Given the description of an element on the screen output the (x, y) to click on. 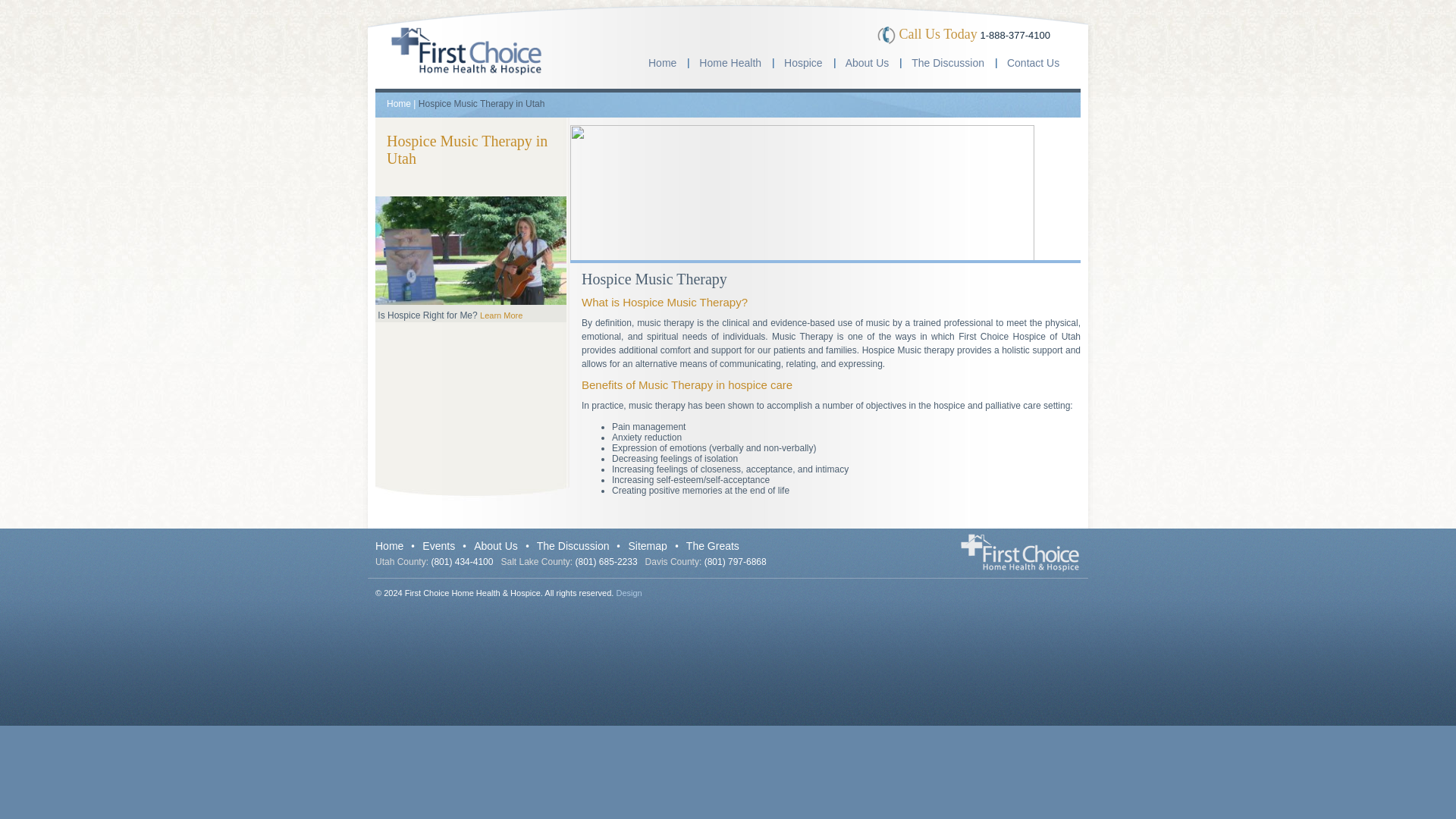
About First Choice Home Health and Hospice of Utah (496, 545)
Learn More (501, 315)
About First Choice Home Health and Hospice of Utah (867, 67)
First Choice Home Health in Utah (730, 67)
Hospice (803, 67)
Hospice Music Therapy in Utah (481, 103)
Hospice Music Therapy in Utah (467, 149)
The Greats (712, 545)
Contact Us (1032, 67)
Events of First Choice Home Health and Hospice of Utah (438, 545)
Sitemap (646, 545)
Hospice in Utah (803, 67)
music (470, 250)
The Discussion (573, 545)
About Us (867, 67)
